Given the description of an element on the screen output the (x, y) to click on. 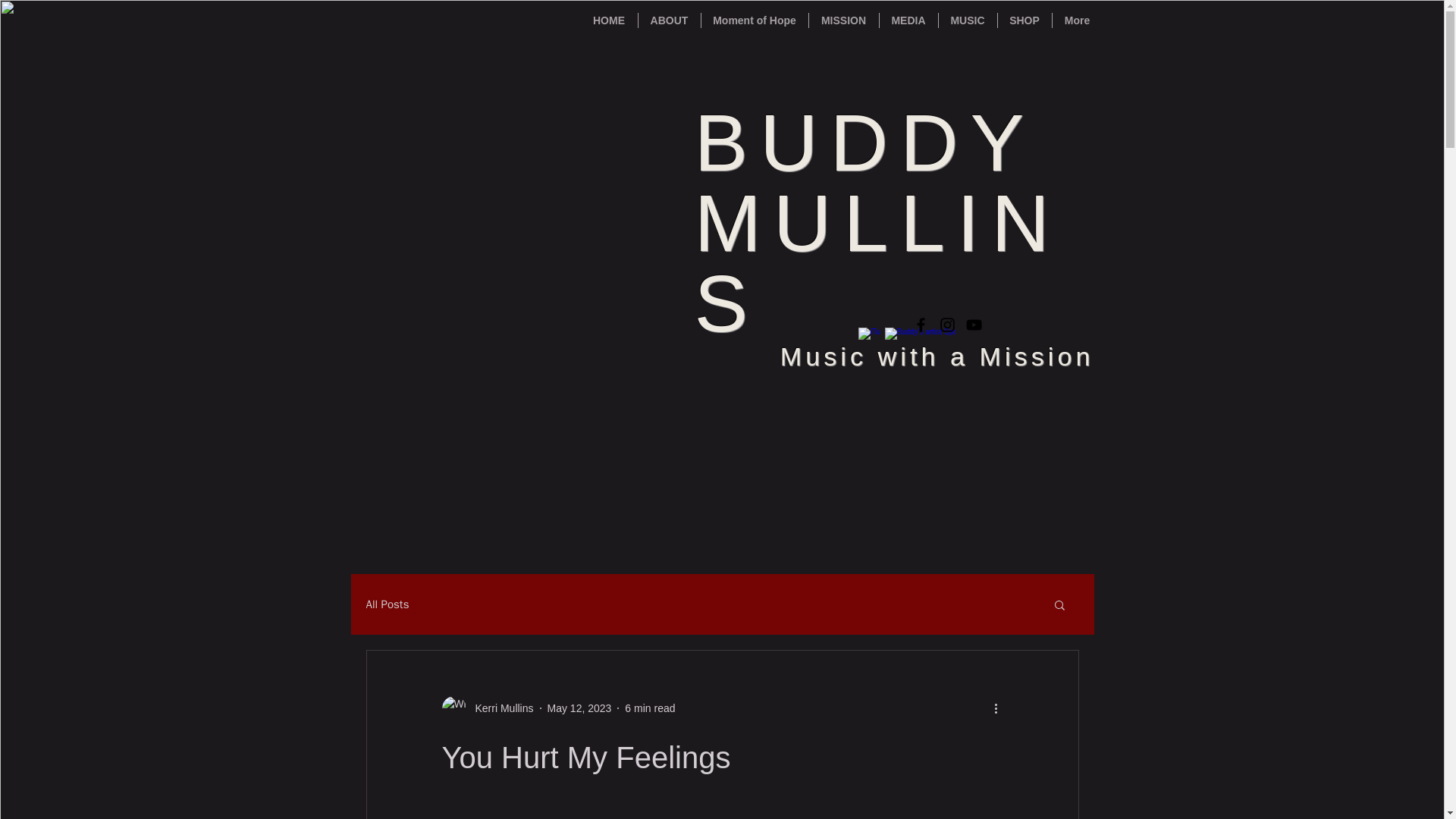
HOME (608, 20)
MEDIA (908, 20)
MUSIC (968, 20)
SHOP (1024, 20)
May 12, 2023 (579, 707)
Moment of Hope (754, 20)
All Posts (387, 604)
6 min read (649, 707)
Kerri Mullins (486, 708)
ABOUT (669, 20)
Kerri Mullins (498, 708)
MISSION (842, 20)
